Given the description of an element on the screen output the (x, y) to click on. 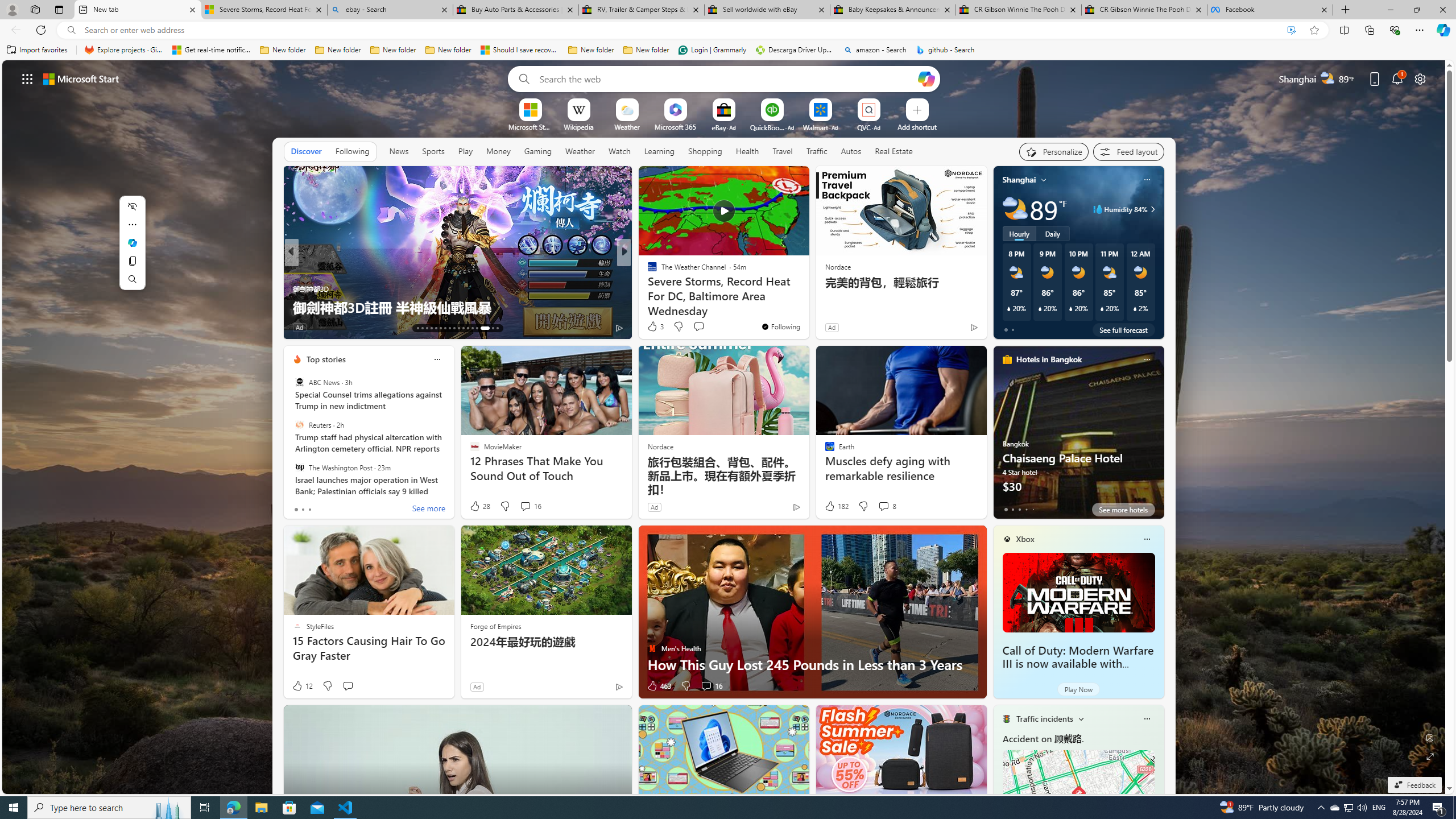
Restore (1416, 9)
463 Like (658, 685)
Search (132, 279)
View comments 96 Comment (6, 327)
View comments 8 Comment (883, 505)
Search icon (70, 29)
Add a site (916, 126)
AutomationID: tab-16 (431, 328)
AutomationID: tab-14 (422, 328)
Start the conversation (347, 685)
More actions (132, 224)
